Given the description of an element on the screen output the (x, y) to click on. 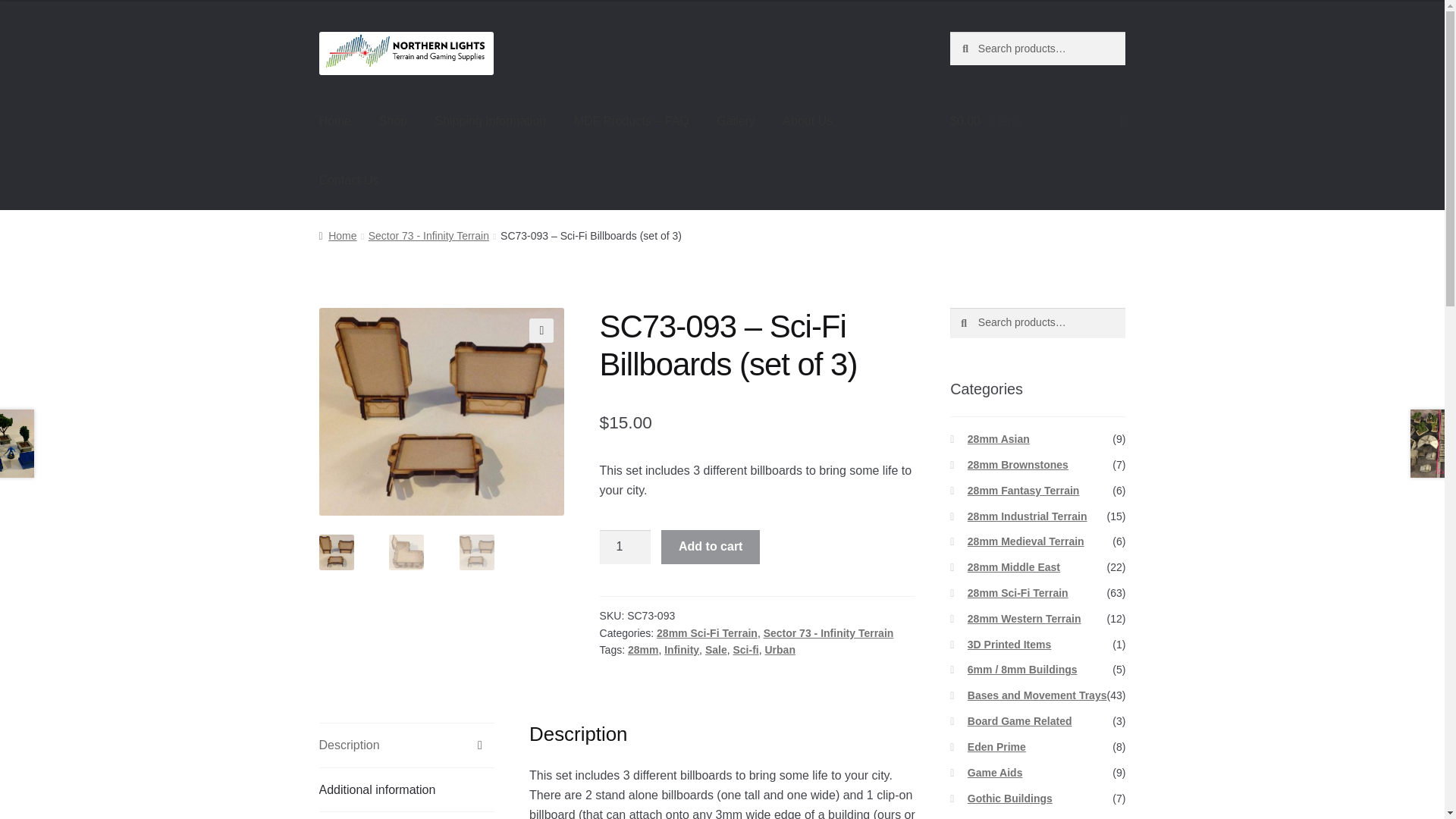
Home (337, 235)
About Us (807, 120)
Gallery (735, 120)
Sector 73 - Infinity Terrain (827, 633)
1 (624, 546)
View your shopping cart (1037, 120)
Qty (624, 546)
SC73-093-1 (441, 411)
Home (335, 120)
SC73-093-2 (686, 434)
28mm Sci-Fi Terrain (706, 633)
Shipping Information (489, 120)
Sector 73 - Infinity Terrain (428, 235)
28mm (642, 649)
